Given the description of an element on the screen output the (x, y) to click on. 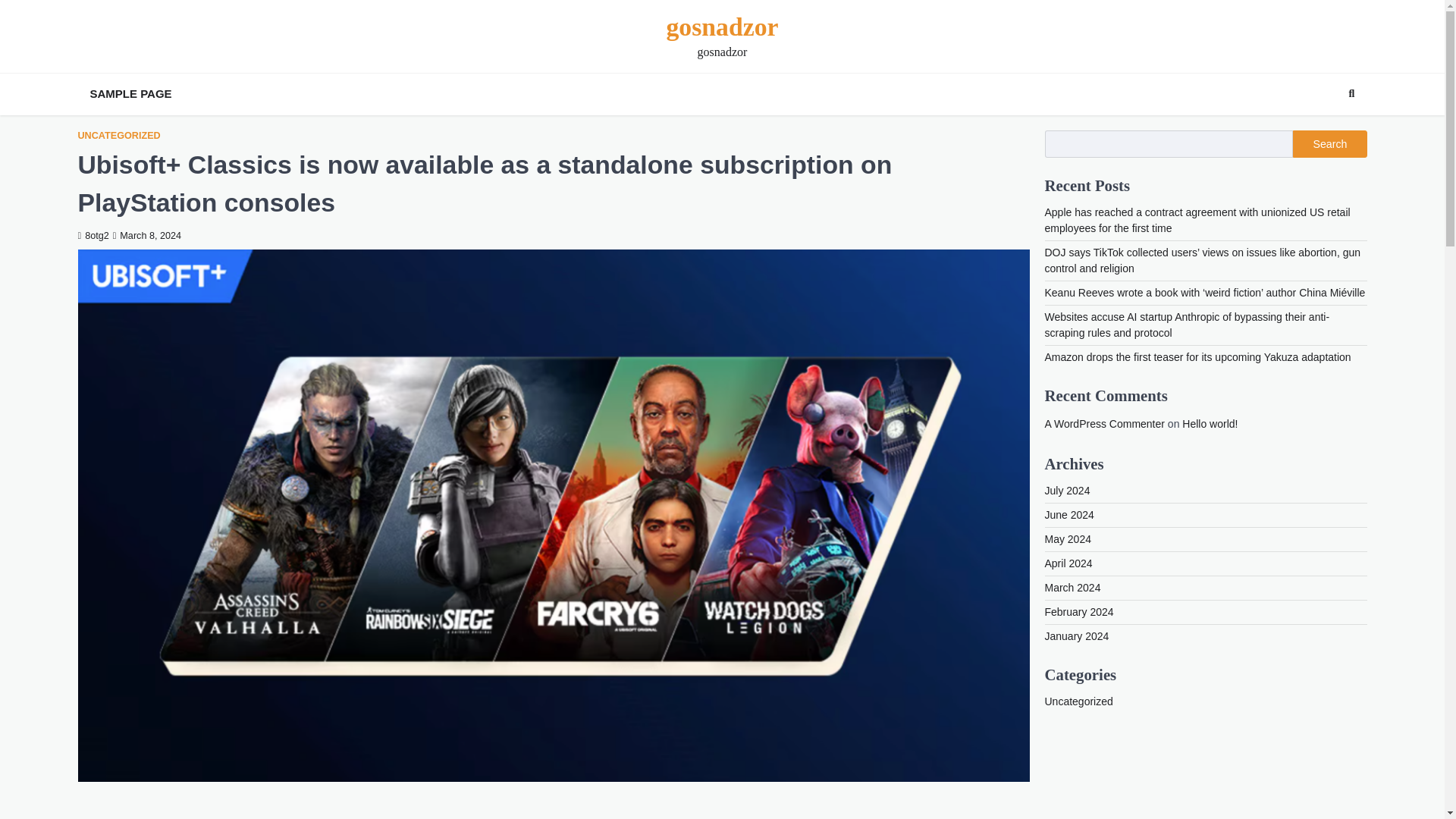
UNCATEGORIZED (118, 135)
February 2024 (1079, 612)
May 2024 (1067, 539)
8otg2 (92, 235)
April 2024 (1069, 563)
Uncategorized (1079, 701)
Hello world! (1209, 423)
SAMPLE PAGE (129, 94)
A WordPress Commenter (1104, 423)
Search (1329, 144)
Search (1351, 93)
June 2024 (1069, 514)
gosnadzor (721, 26)
July 2024 (1067, 490)
